Given the description of an element on the screen output the (x, y) to click on. 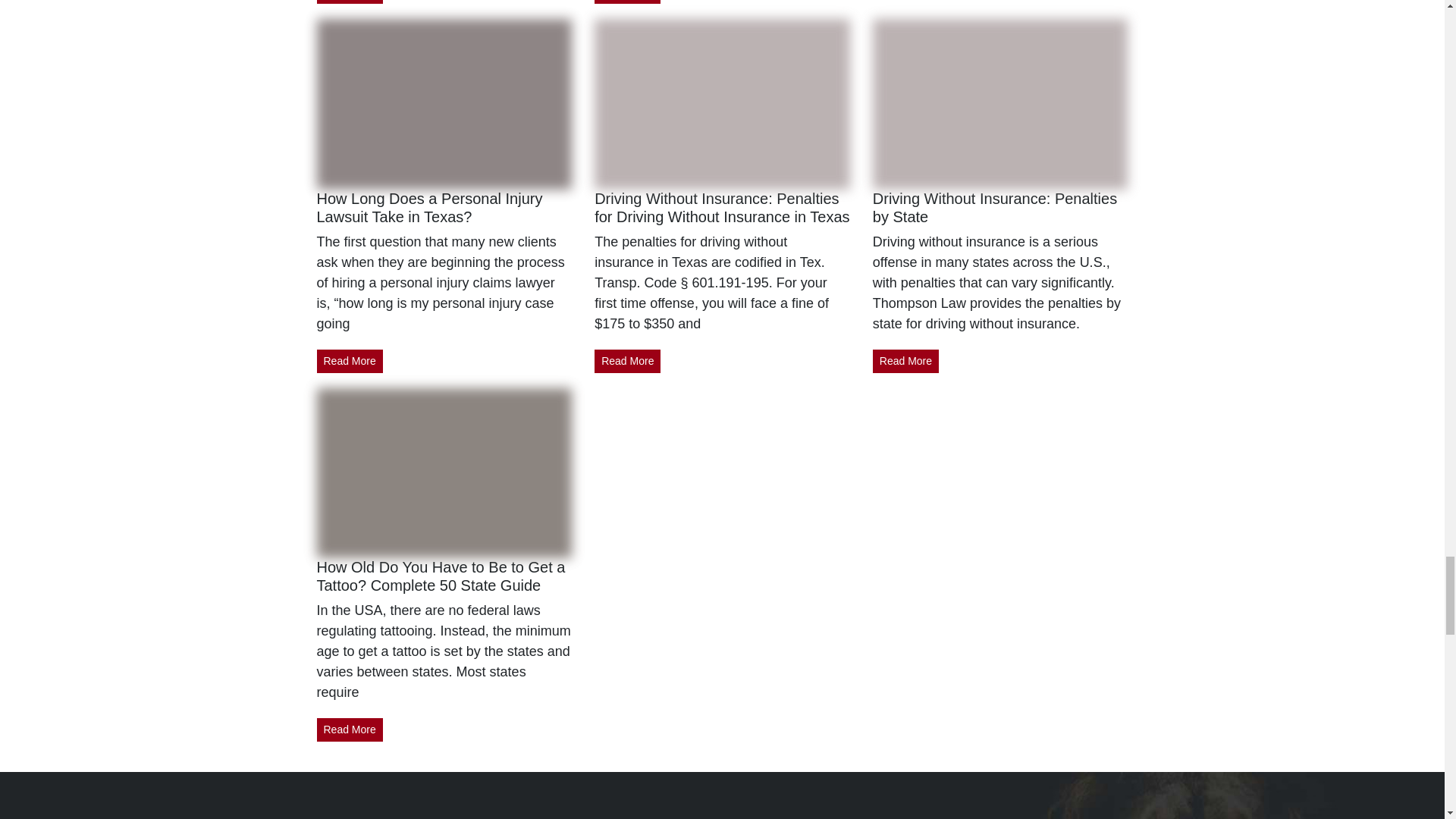
Read More (627, 2)
How Long Does a Personal Injury Lawsuit Take in Texas? (430, 207)
Read More (349, 2)
Driving Without Insurance: Penalties by State 10 (1000, 103)
How Long Does a Personal Injury Lawsuit Take in Texas? 8 (444, 103)
Read More (349, 361)
